Given the description of an element on the screen output the (x, y) to click on. 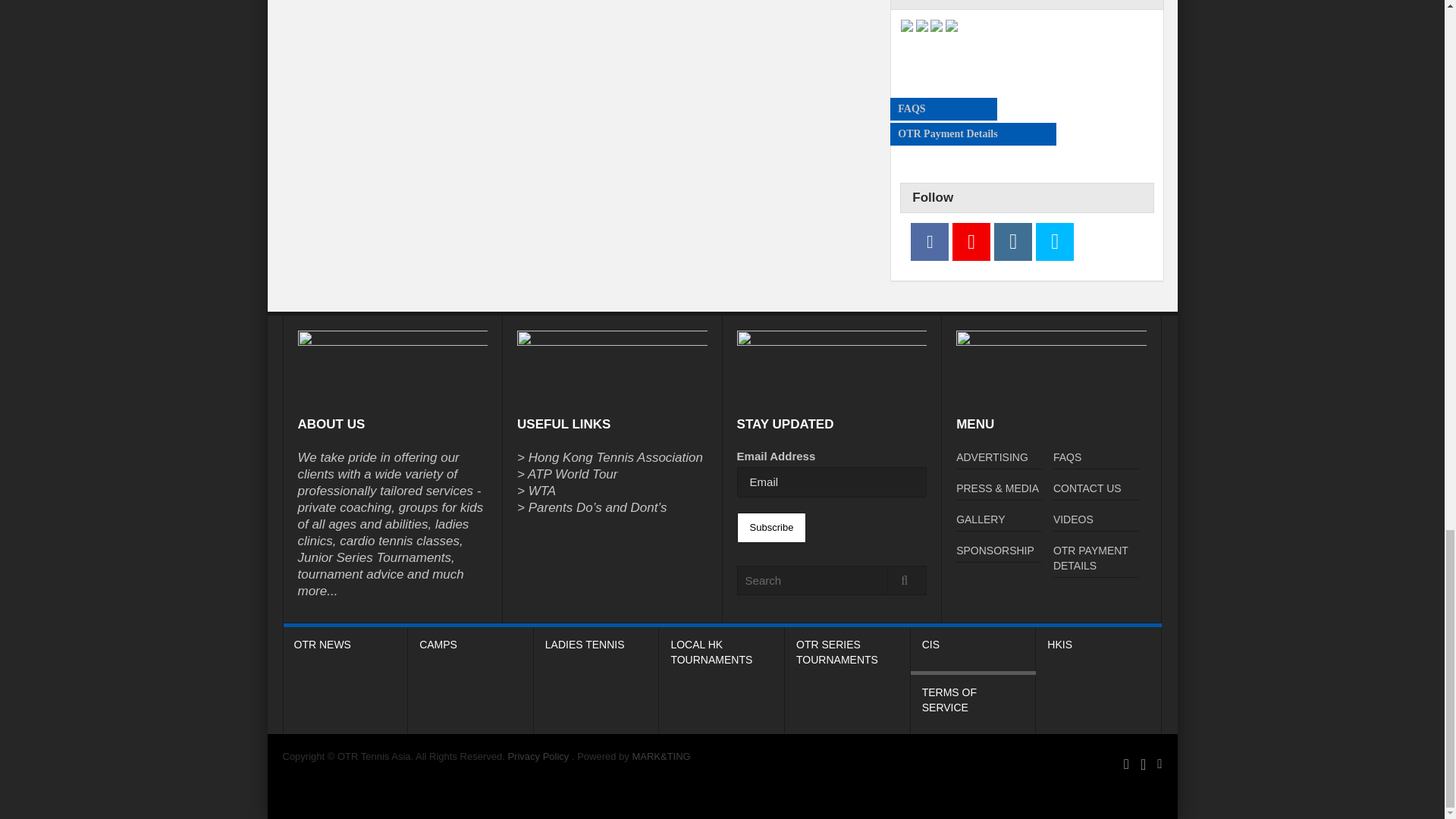
Subscribe (771, 527)
Search for: (831, 580)
Search (831, 580)
Search (831, 580)
